Given the description of an element on the screen output the (x, y) to click on. 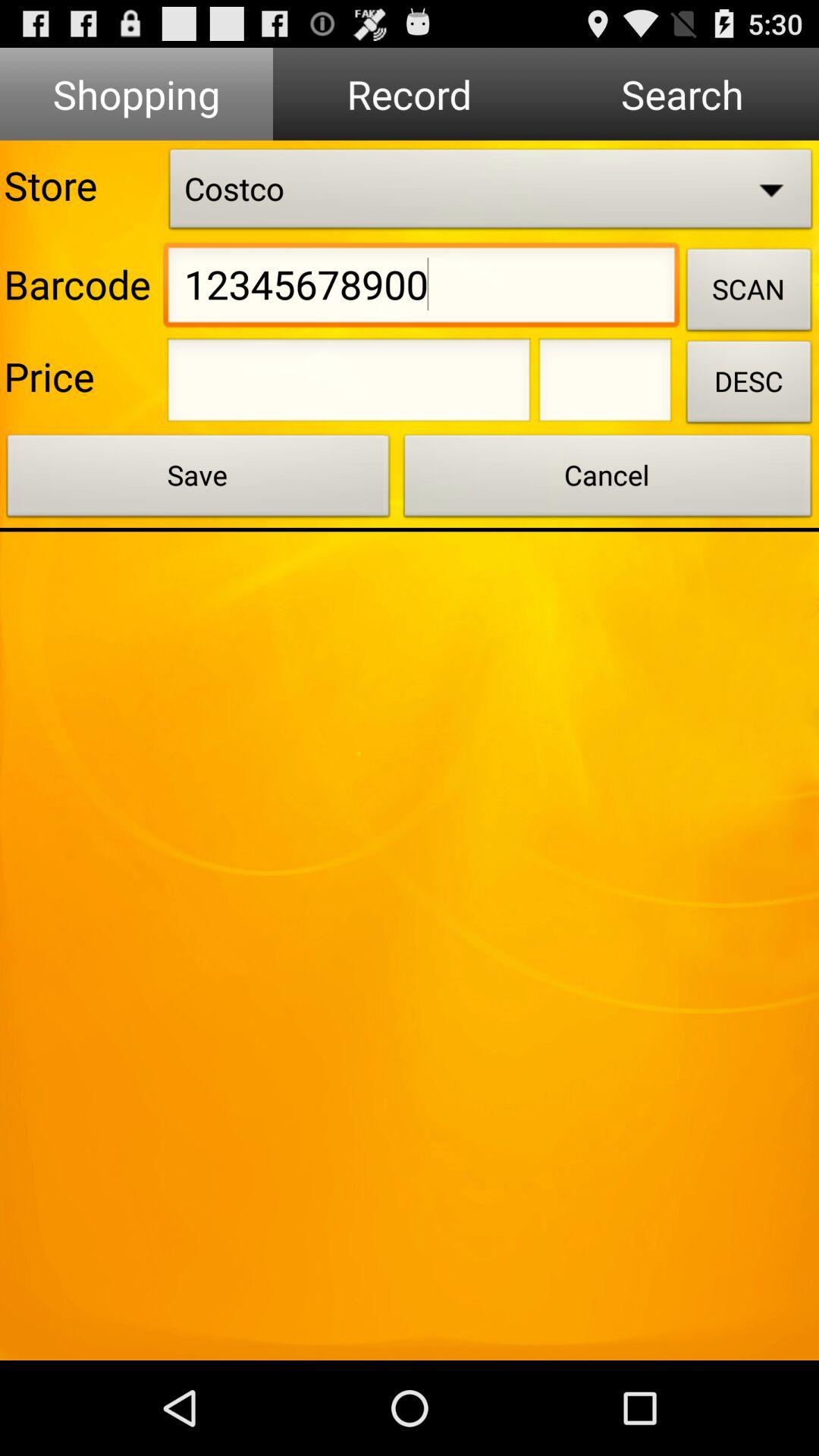
select the tab record on the web page (409, 93)
